Given the description of an element on the screen output the (x, y) to click on. 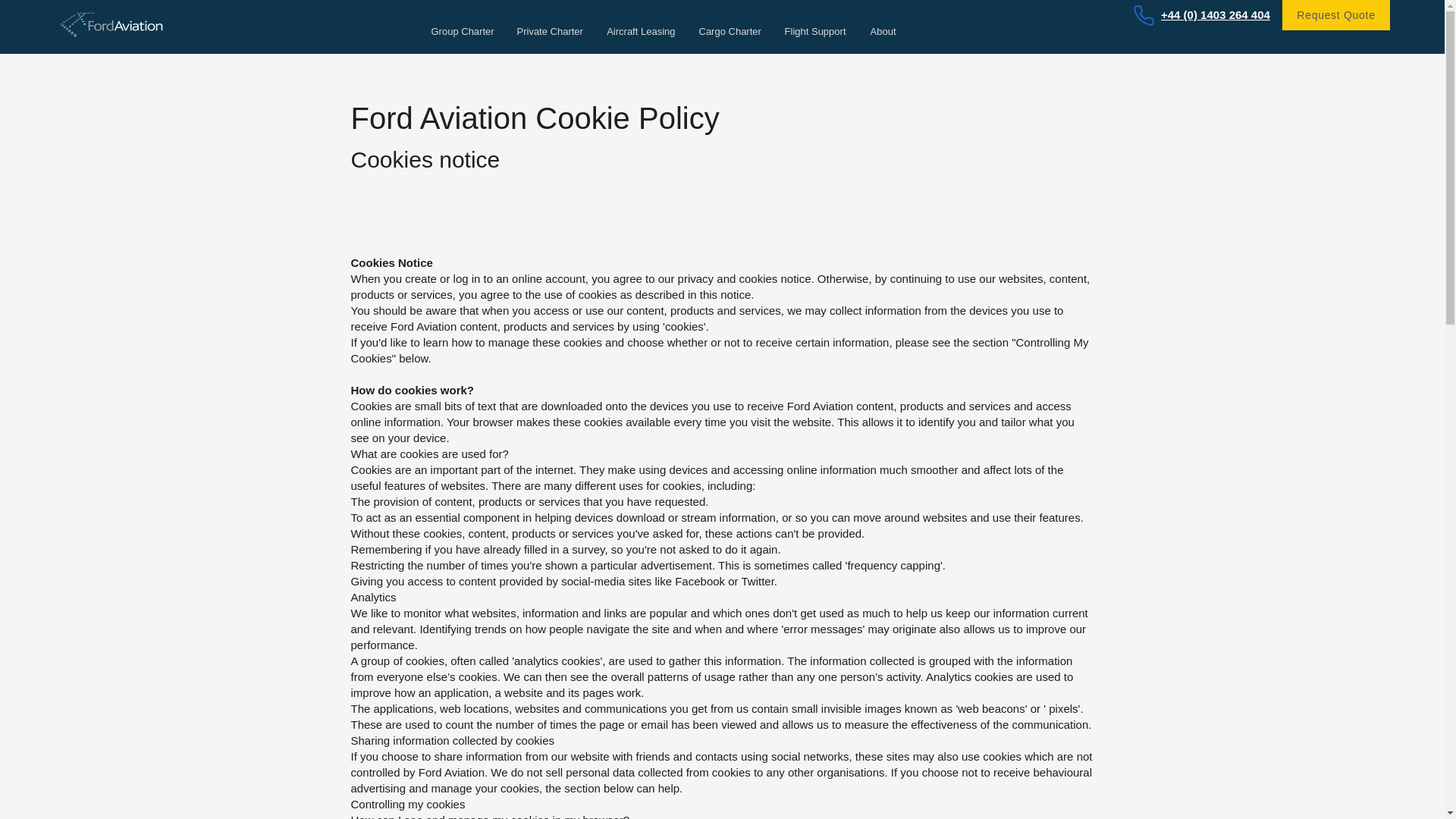
Private Charter (549, 31)
Flight Support (814, 31)
Request Quote (1336, 15)
Aircraft Leasing (638, 31)
Group Charter (461, 31)
About (882, 31)
Cargo Charter (729, 31)
